Given the description of an element on the screen output the (x, y) to click on. 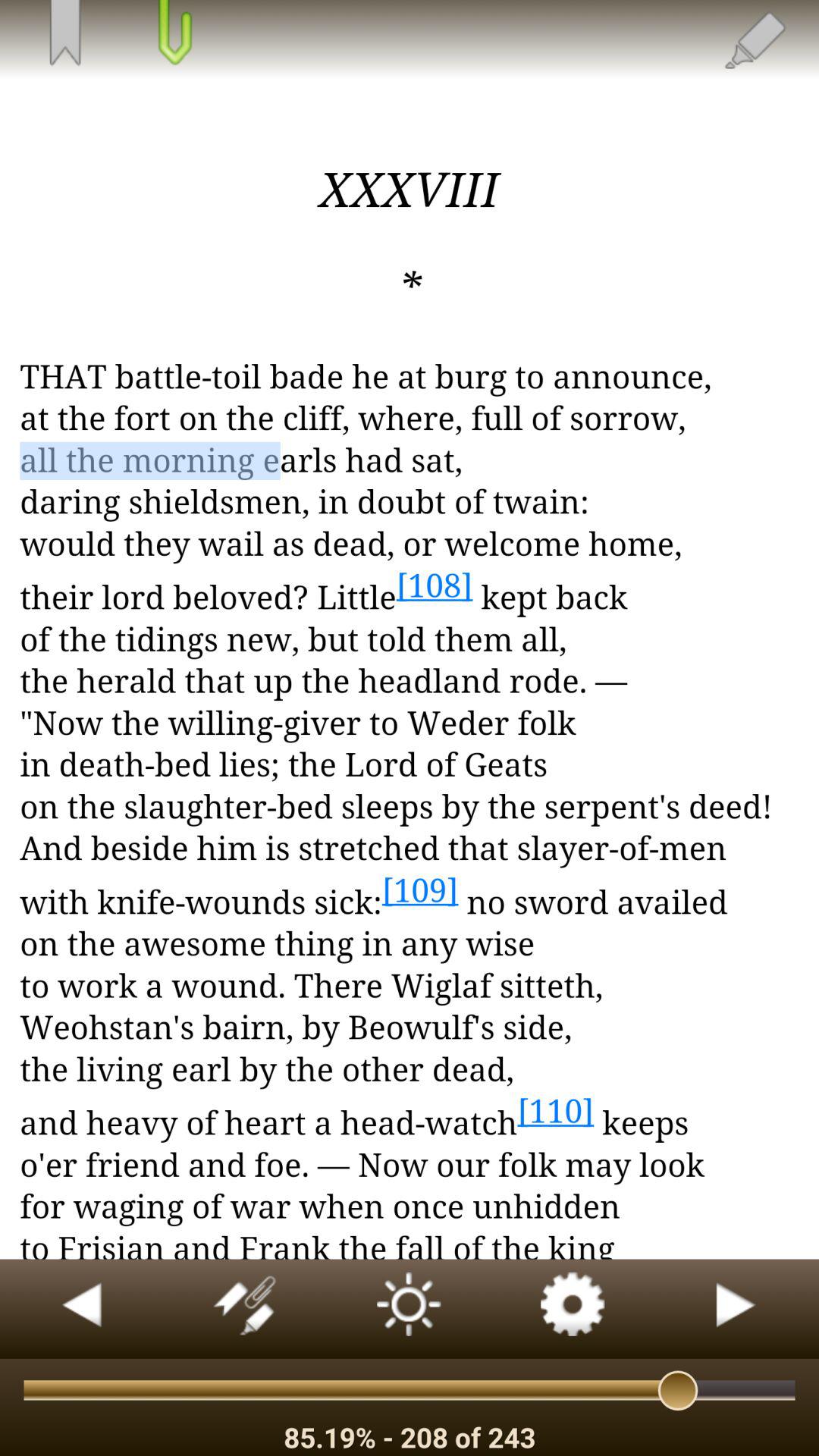
toggle highlighter (754, 39)
